Given the description of an element on the screen output the (x, y) to click on. 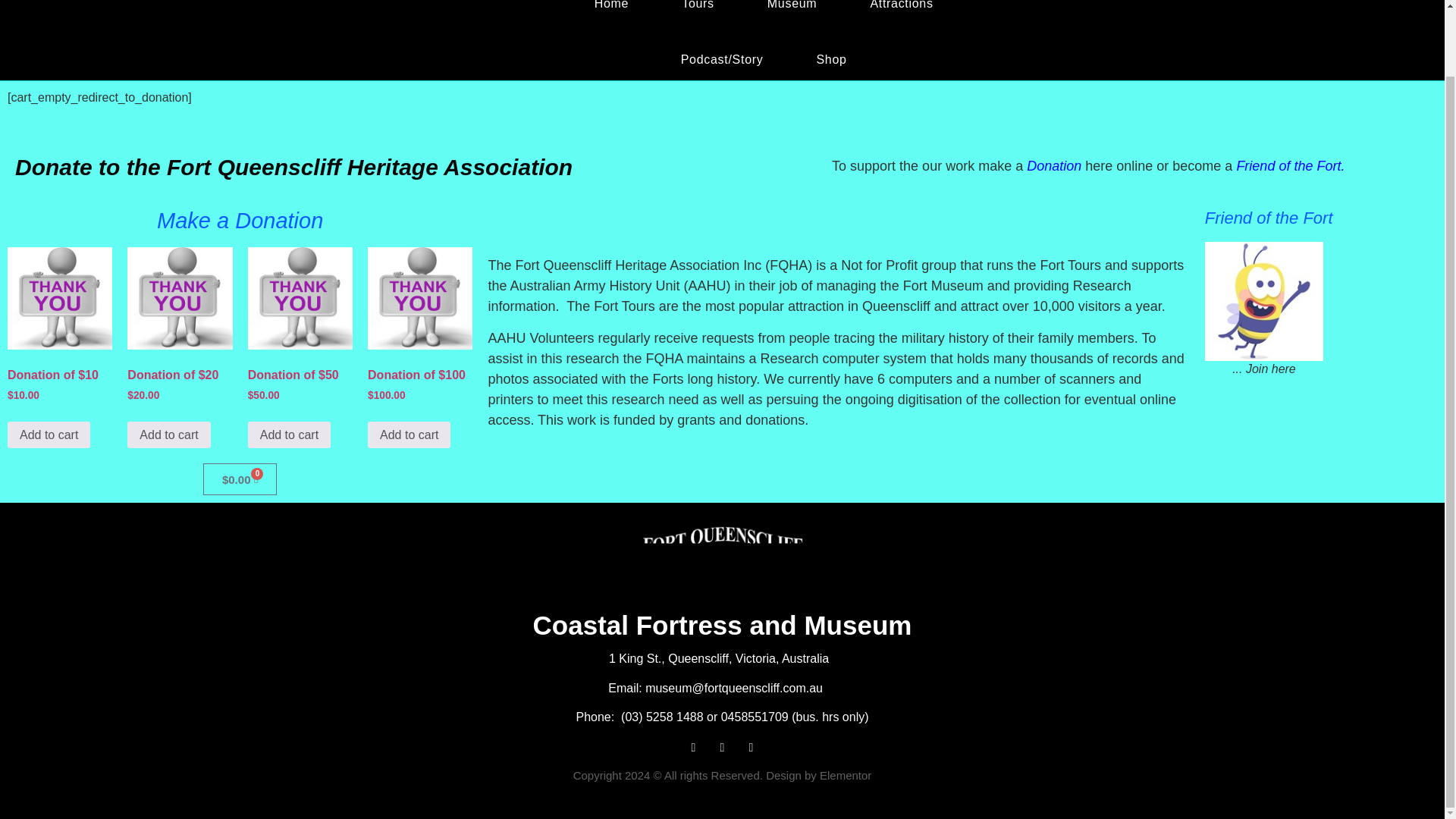
Tours (698, 15)
Museum (792, 15)
Shop (830, 59)
Home (611, 15)
Attractions (901, 15)
